Given the description of an element on the screen output the (x, y) to click on. 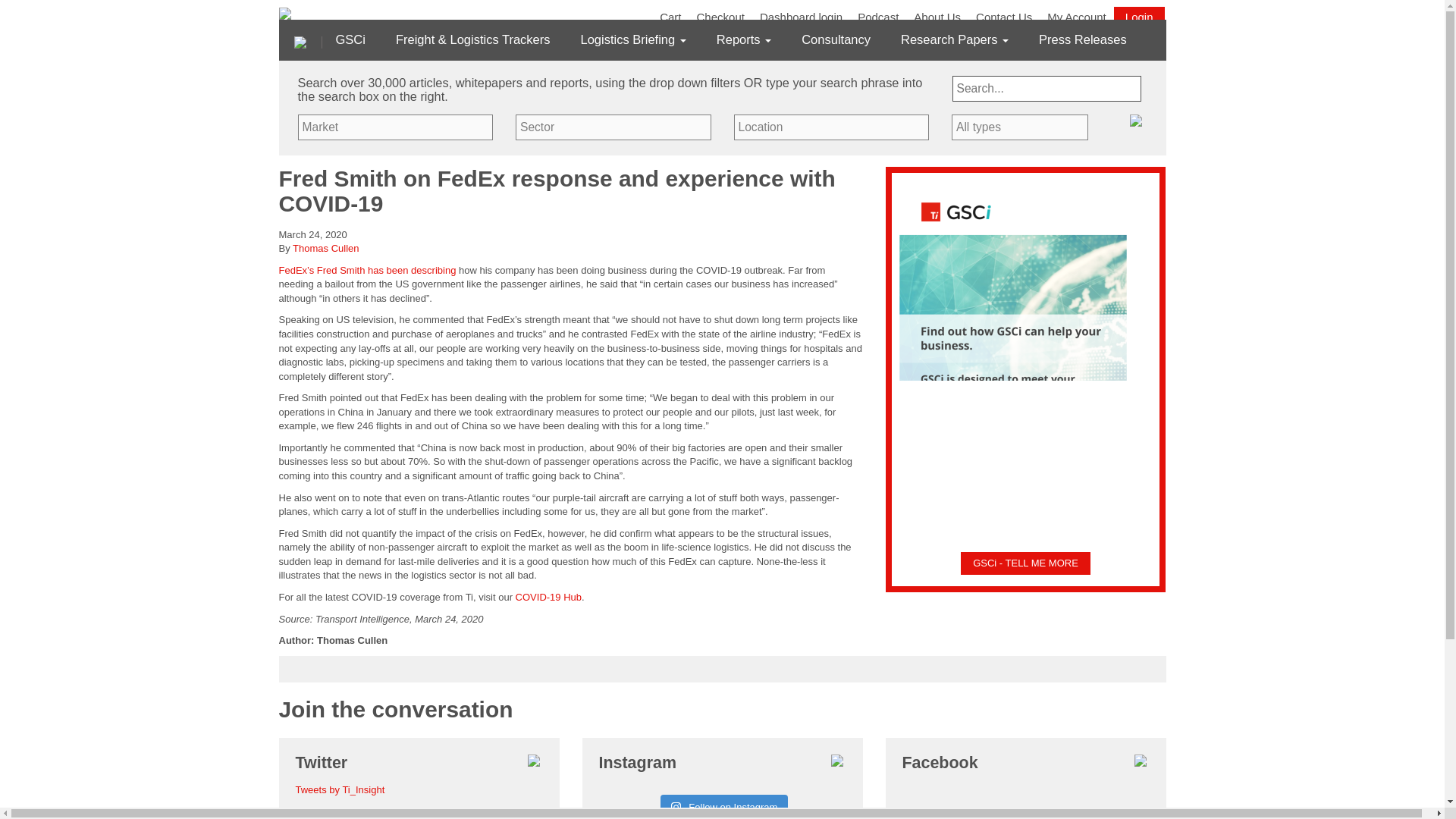
My Account (1076, 16)
Thomas Cullen (325, 247)
Login (1138, 16)
Reports (743, 38)
Logistics Briefing (632, 38)
Dashboard login (801, 16)
About Us (936, 16)
Checkout (720, 16)
Press Releases (1082, 38)
Logistics Briefing (632, 38)
